Given the description of an element on the screen output the (x, y) to click on. 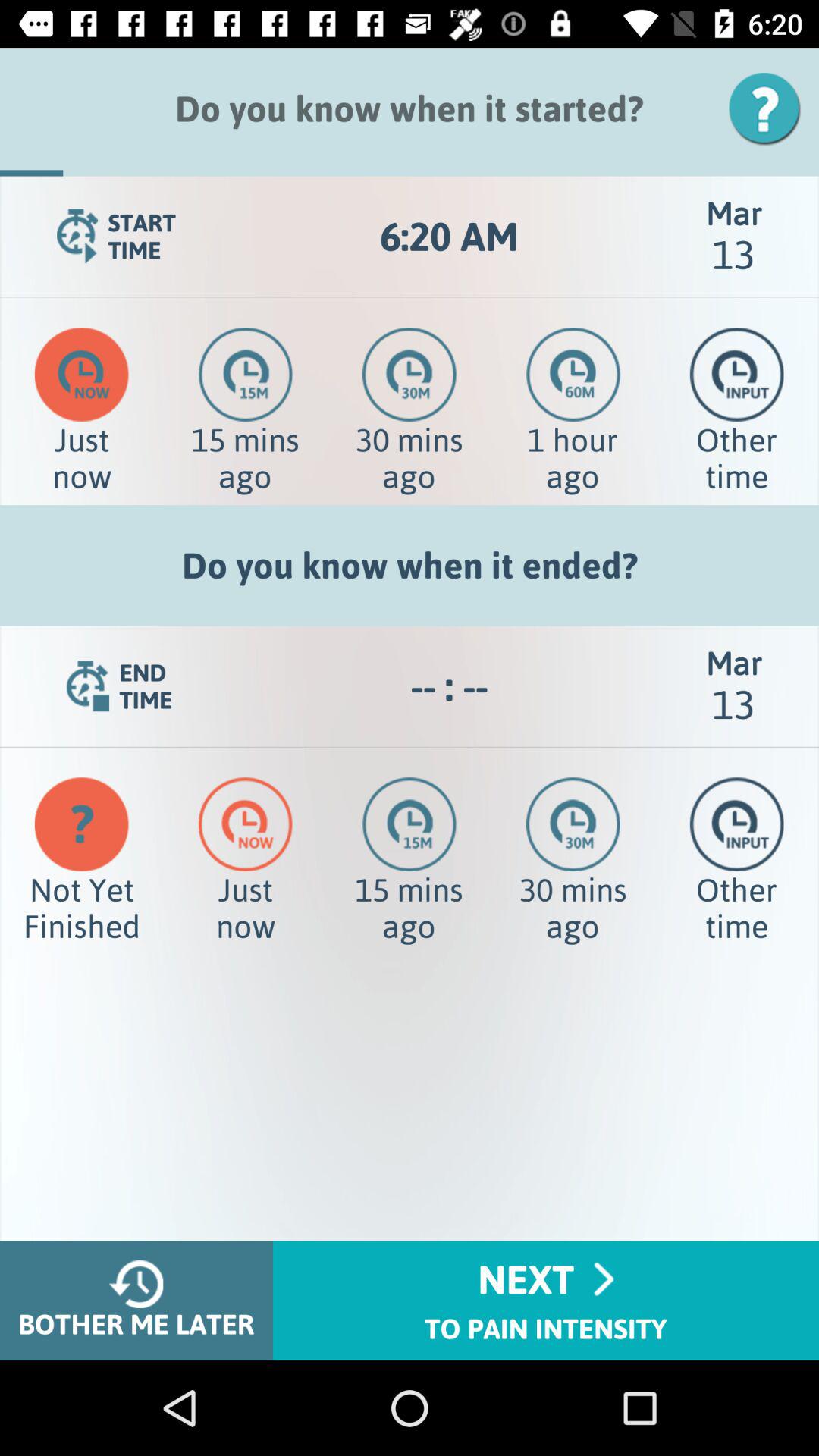
open the icon to the right of do you know item (769, 108)
